Given the description of an element on the screen output the (x, y) to click on. 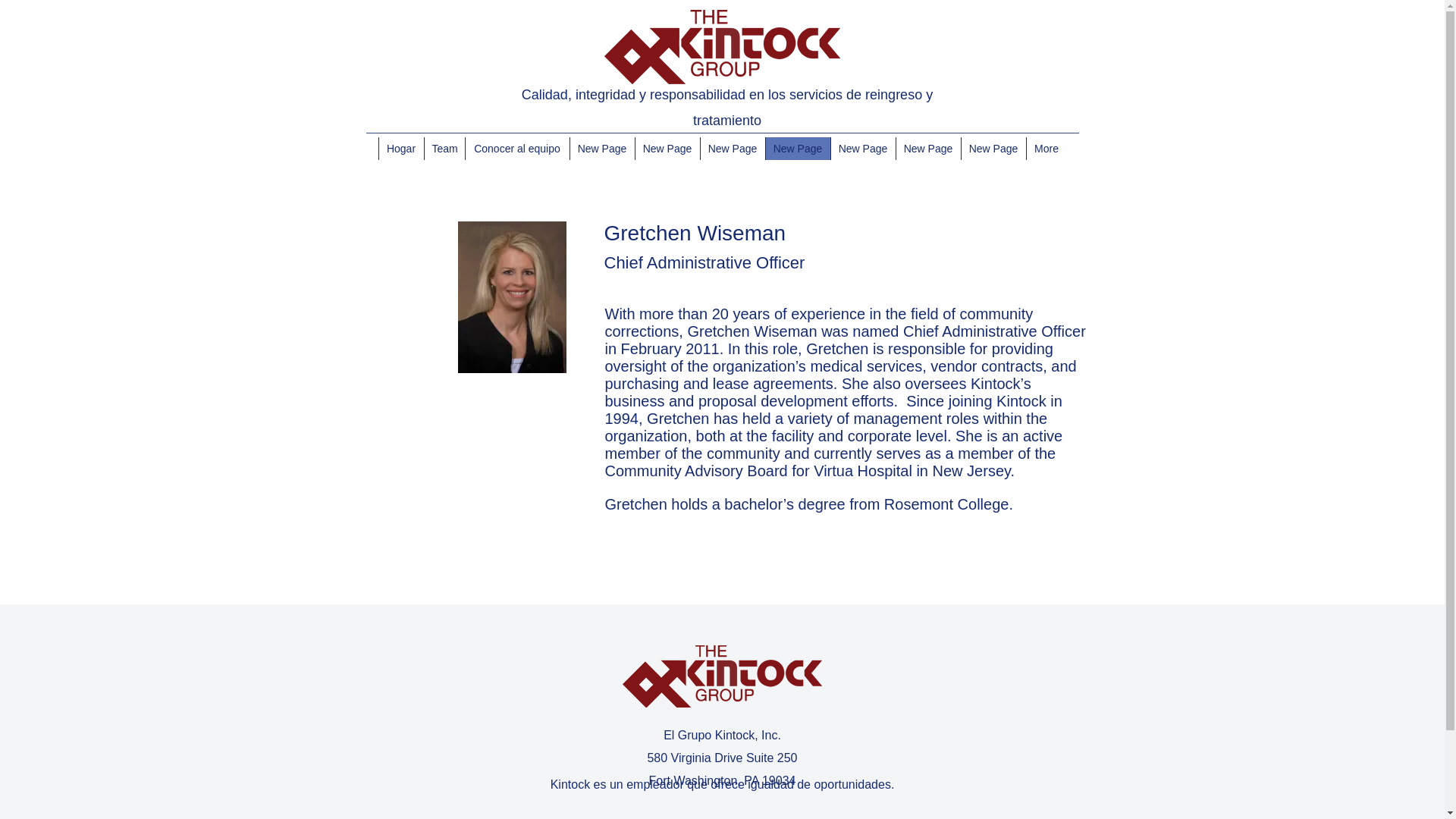
New Page (601, 147)
Hogar (400, 147)
New Page (731, 147)
Team (443, 147)
New Page (665, 147)
New Page (862, 147)
Conocer al equipo (516, 147)
New Page (992, 147)
New Page (796, 147)
New Page (927, 147)
